Given the description of an element on the screen output the (x, y) to click on. 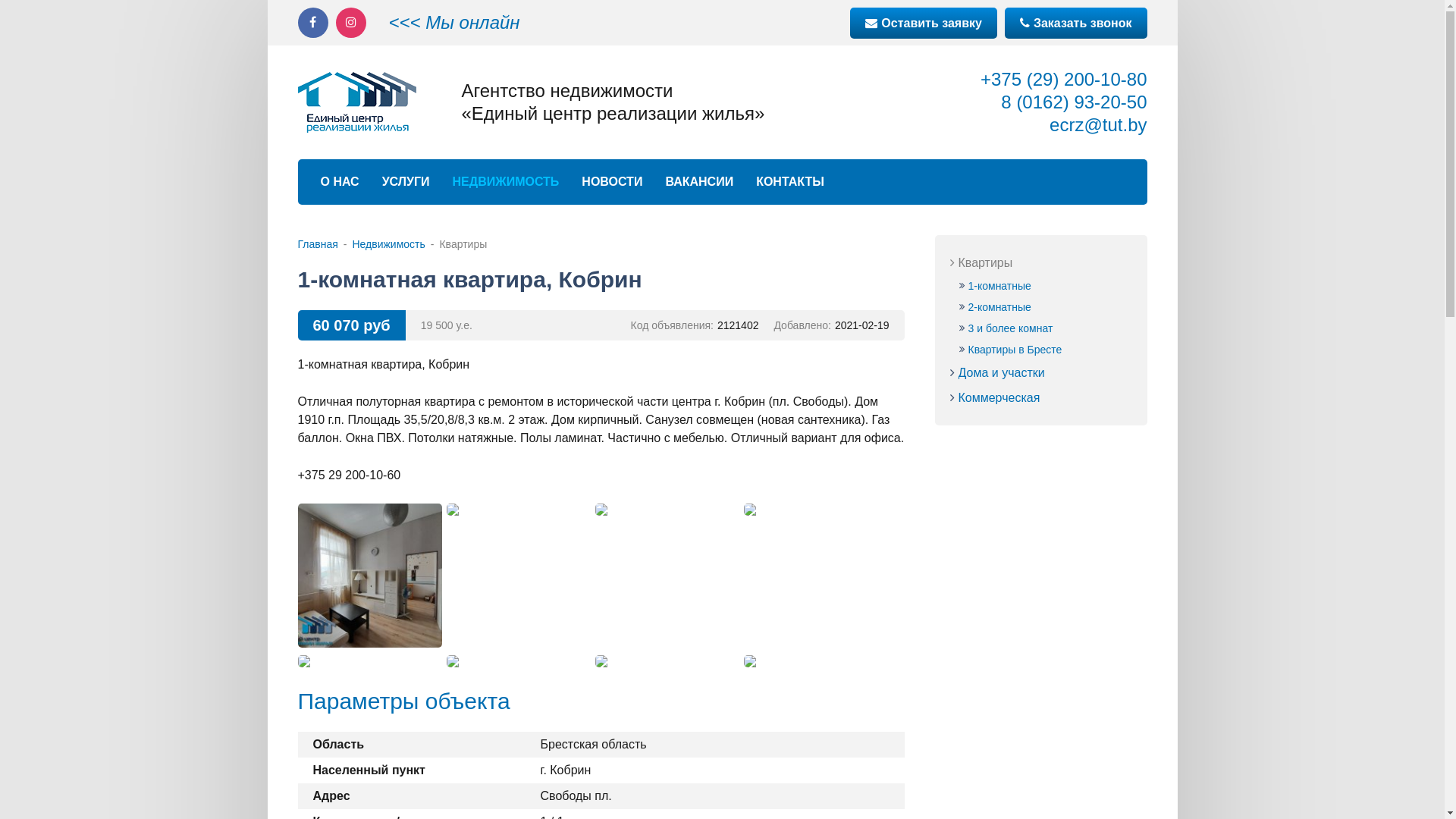
8 (0162) 93-20-50 Element type: text (1073, 101)
+375 (29) 200-10-80 Element type: text (1063, 79)
ecrz@tut.by Element type: text (1097, 124)
